Given the description of an element on the screen output the (x, y) to click on. 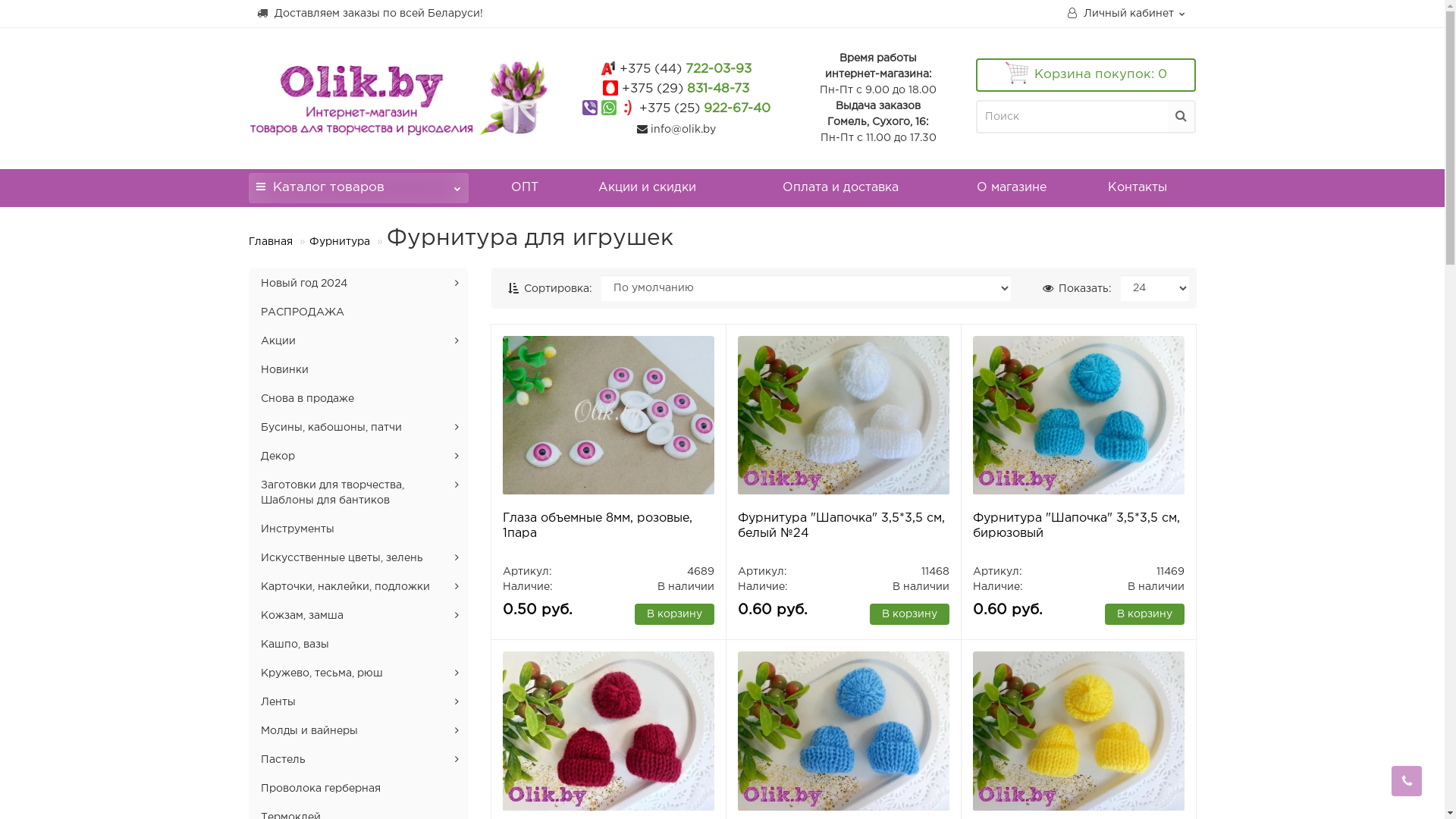
+375 (29) 831-48-73 Element type: text (685, 88)
+375 (44) 722-03-93 Element type: text (685, 69)
OLIK.by Element type: hover (398, 97)
+375 (25) 922-67-40 Element type: text (704, 108)
